Given the description of an element on the screen output the (x, y) to click on. 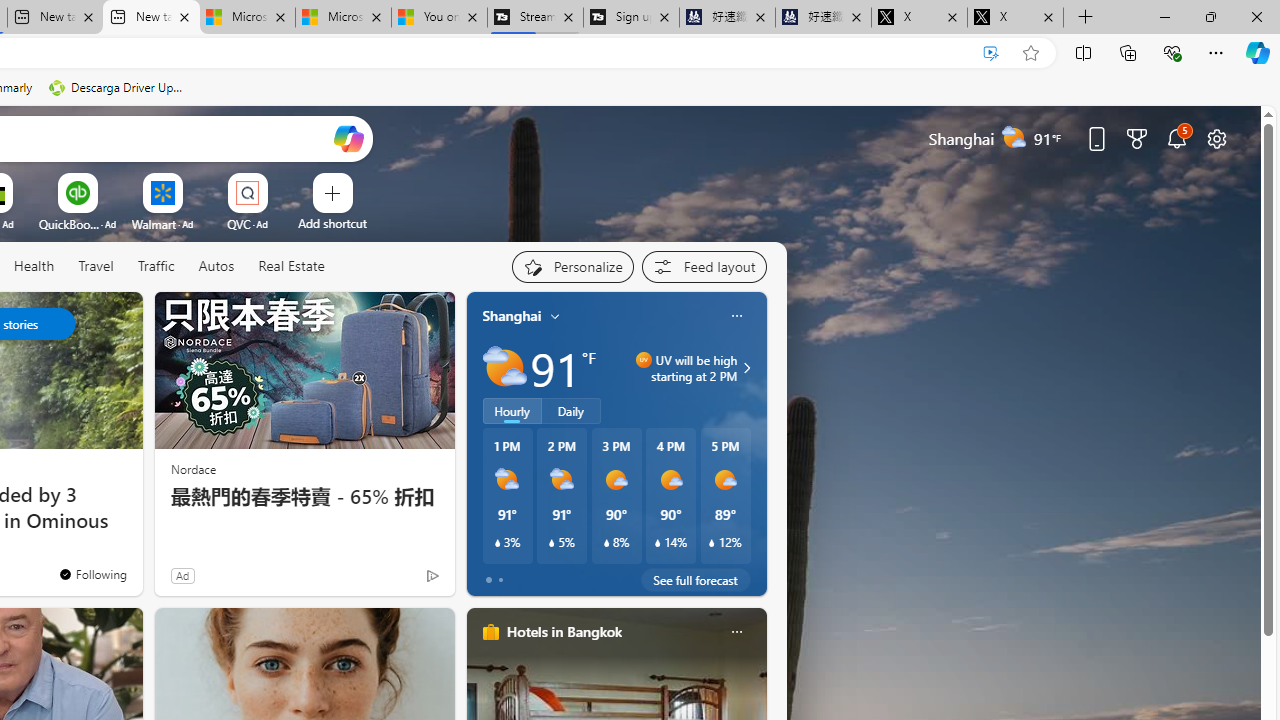
Shanghai (511, 315)
Add a site (332, 223)
Class: weather-current-precipitation-glyph (712, 543)
